Given the description of an element on the screen output the (x, y) to click on. 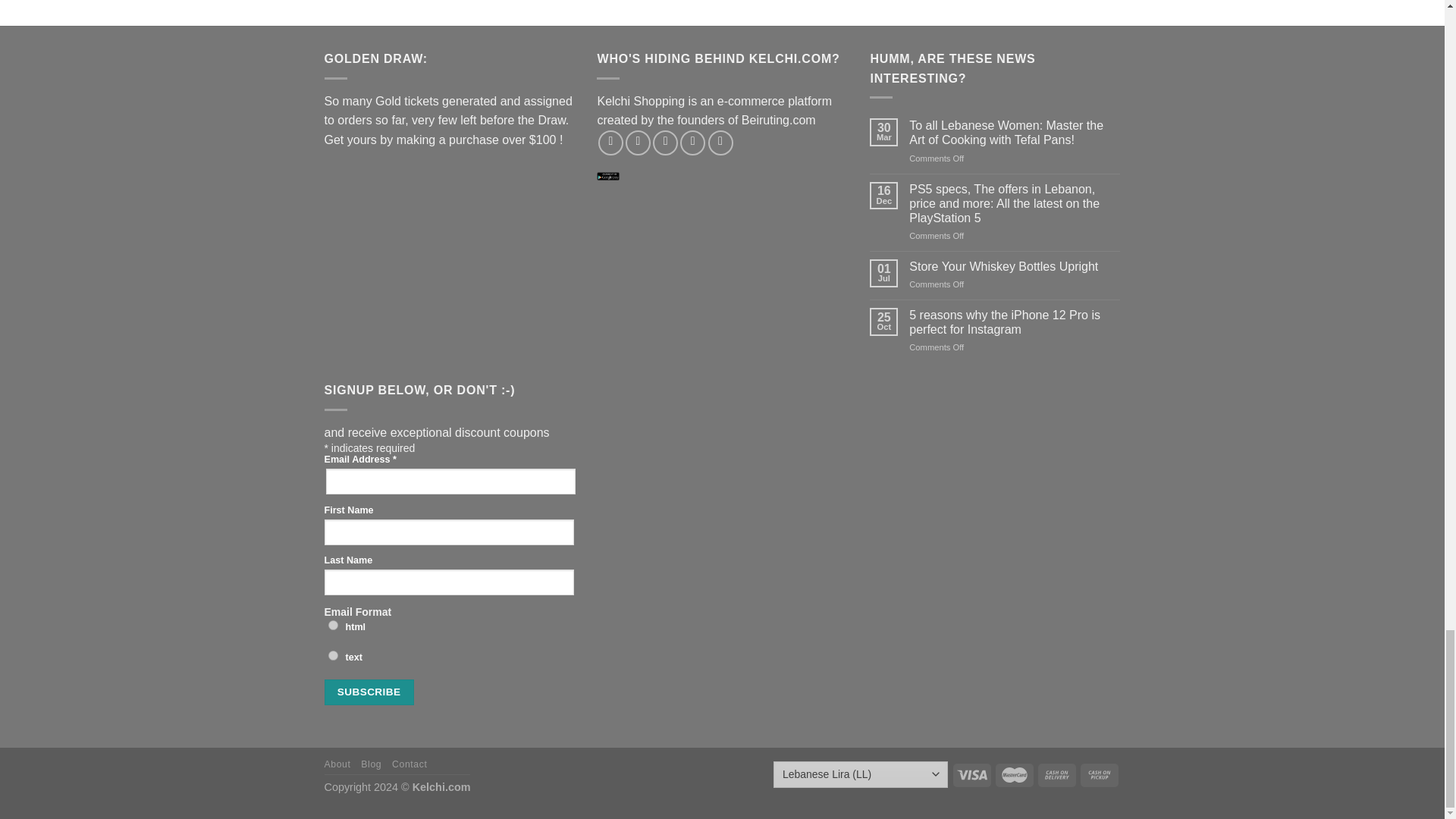
text (332, 655)
Subscribe (368, 692)
Follow on Instagram (638, 142)
Store Your Whiskey Bottles Upright (1013, 266)
Follow on Facebook (610, 142)
html (332, 624)
Call us (720, 142)
Follow on Twitter (665, 142)
